Given the description of an element on the screen output the (x, y) to click on. 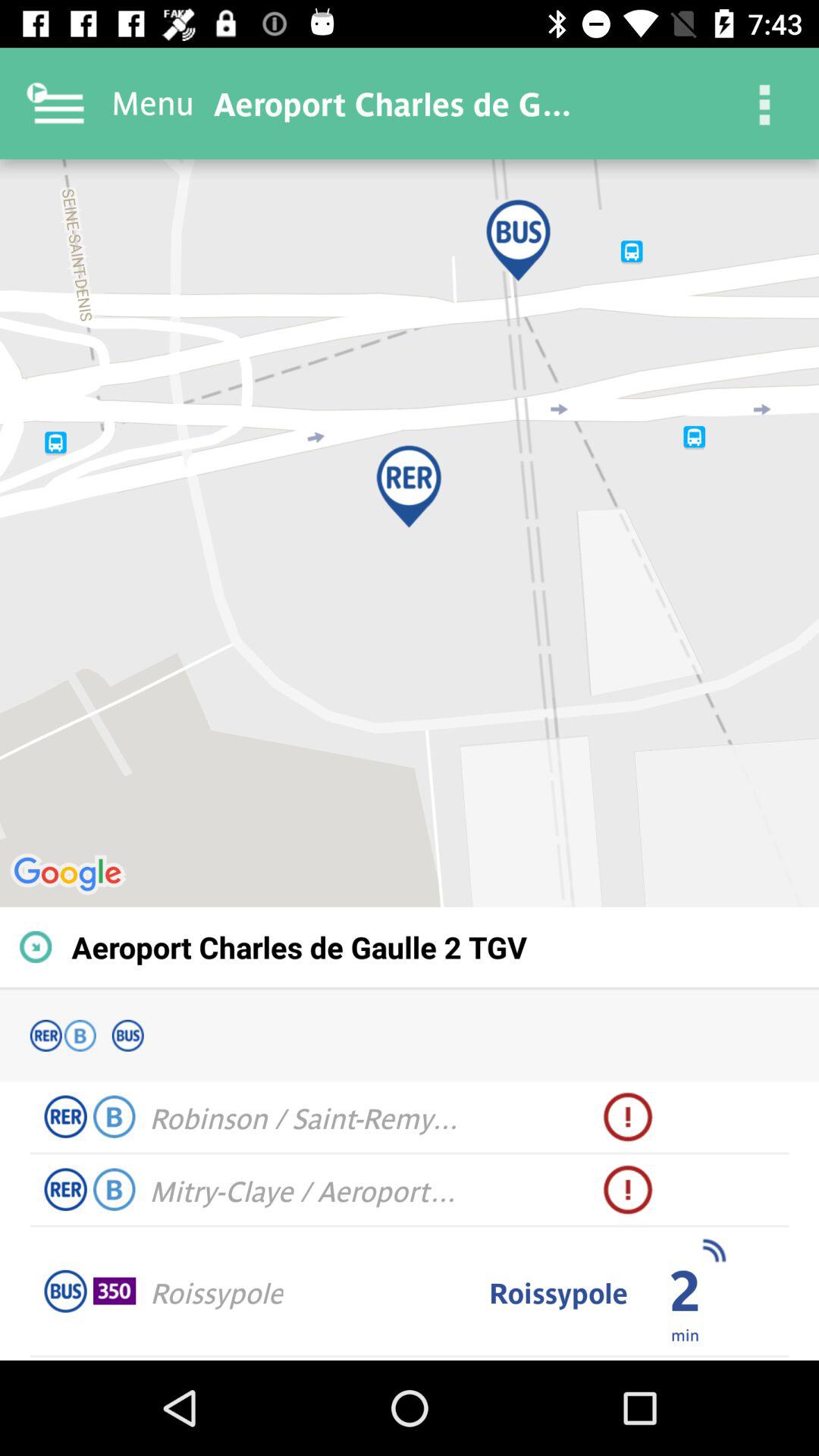
open icon to the right of roissypole item (684, 1334)
